Given the description of an element on the screen output the (x, y) to click on. 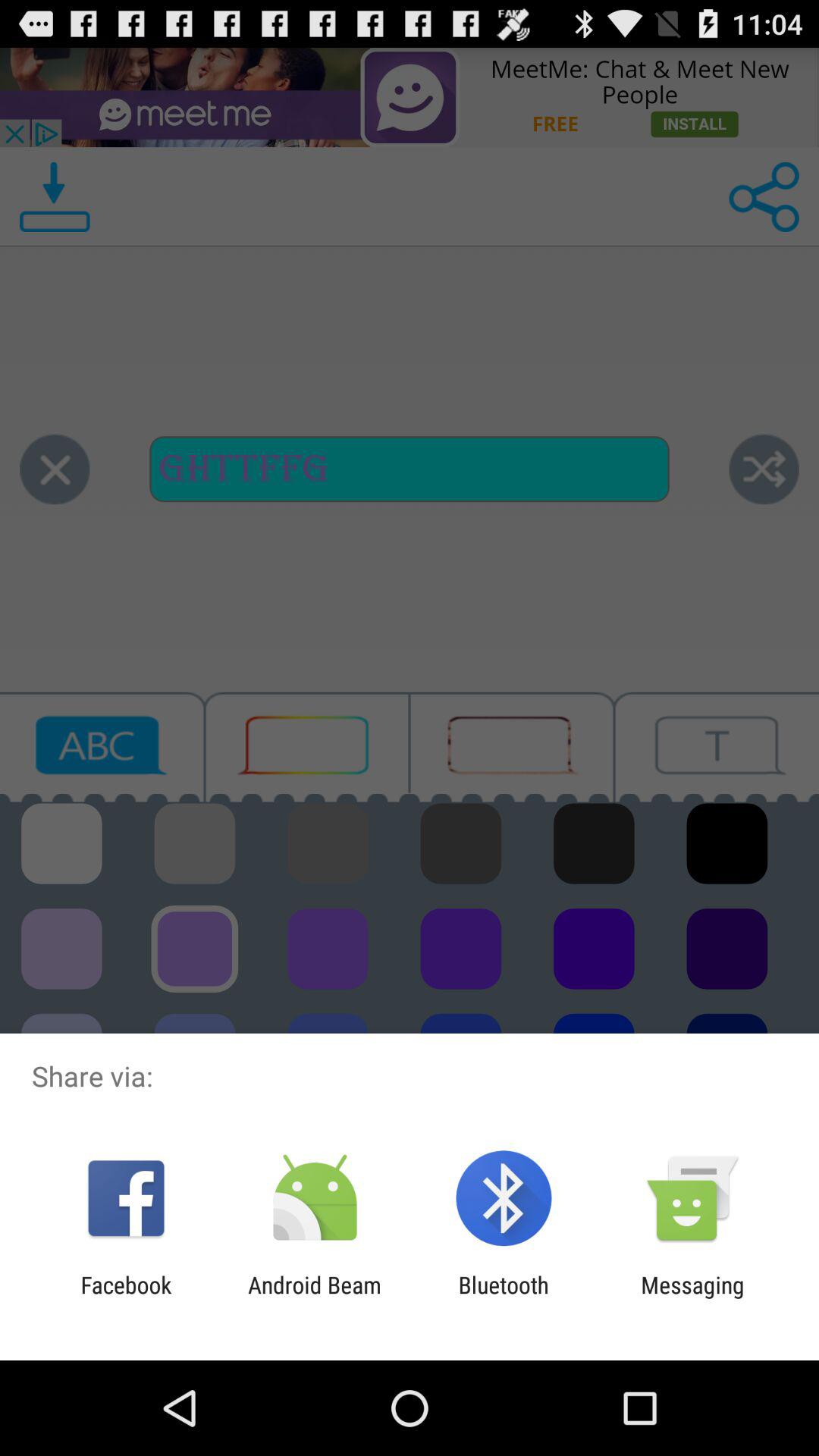
select the app next to the android beam icon (503, 1298)
